Given the description of an element on the screen output the (x, y) to click on. 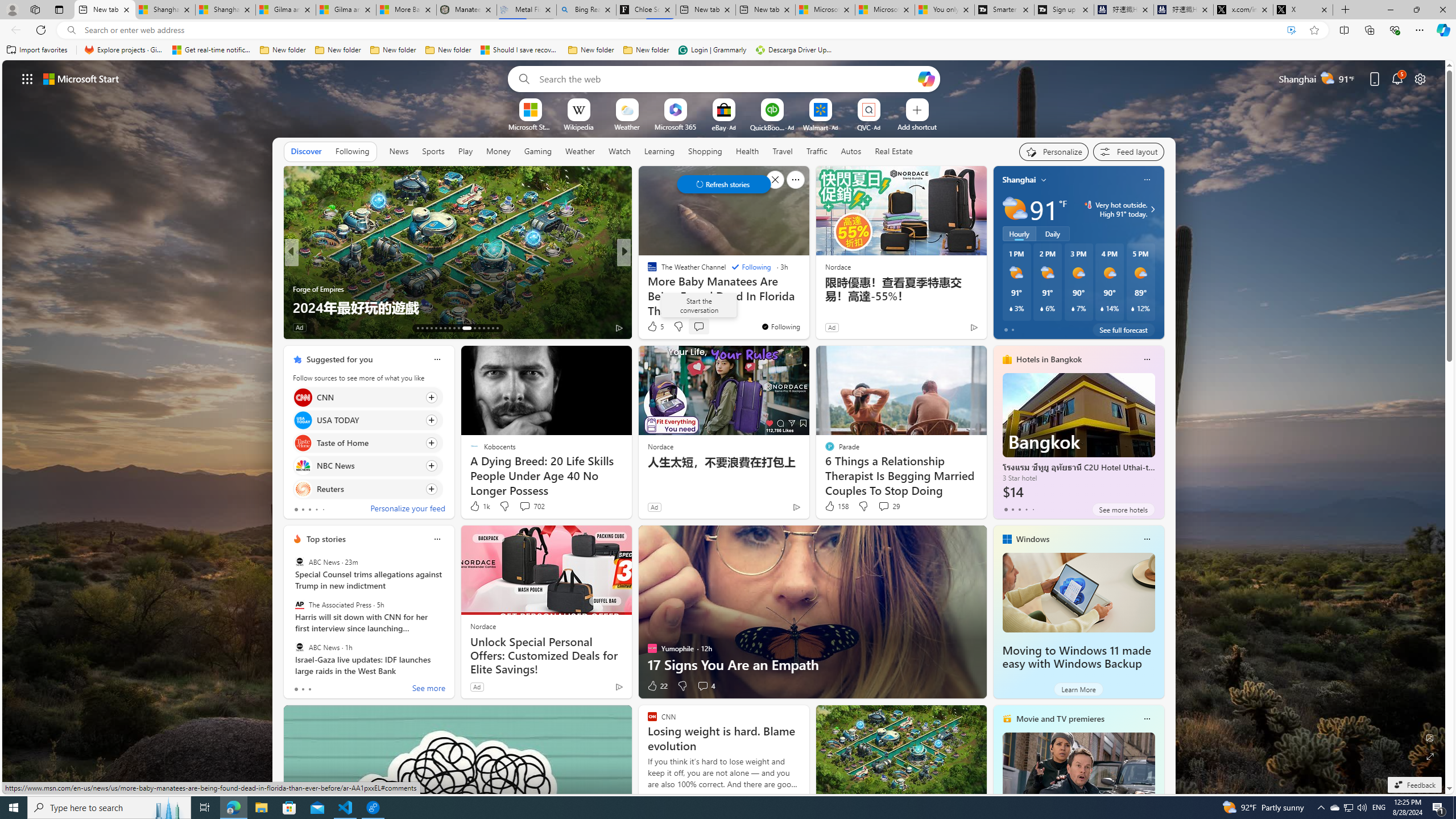
Class: weather-arrow-glyph (1152, 208)
146 Like (654, 327)
Should I save recovered Word documents? - Microsoft Support (519, 49)
Hotels in Bangkok (1048, 359)
tab-1 (302, 689)
Shopping (705, 151)
AutomationID: tab-42 (497, 328)
SlashGear (647, 270)
Enhance video (1291, 29)
